Given the description of an element on the screen output the (x, y) to click on. 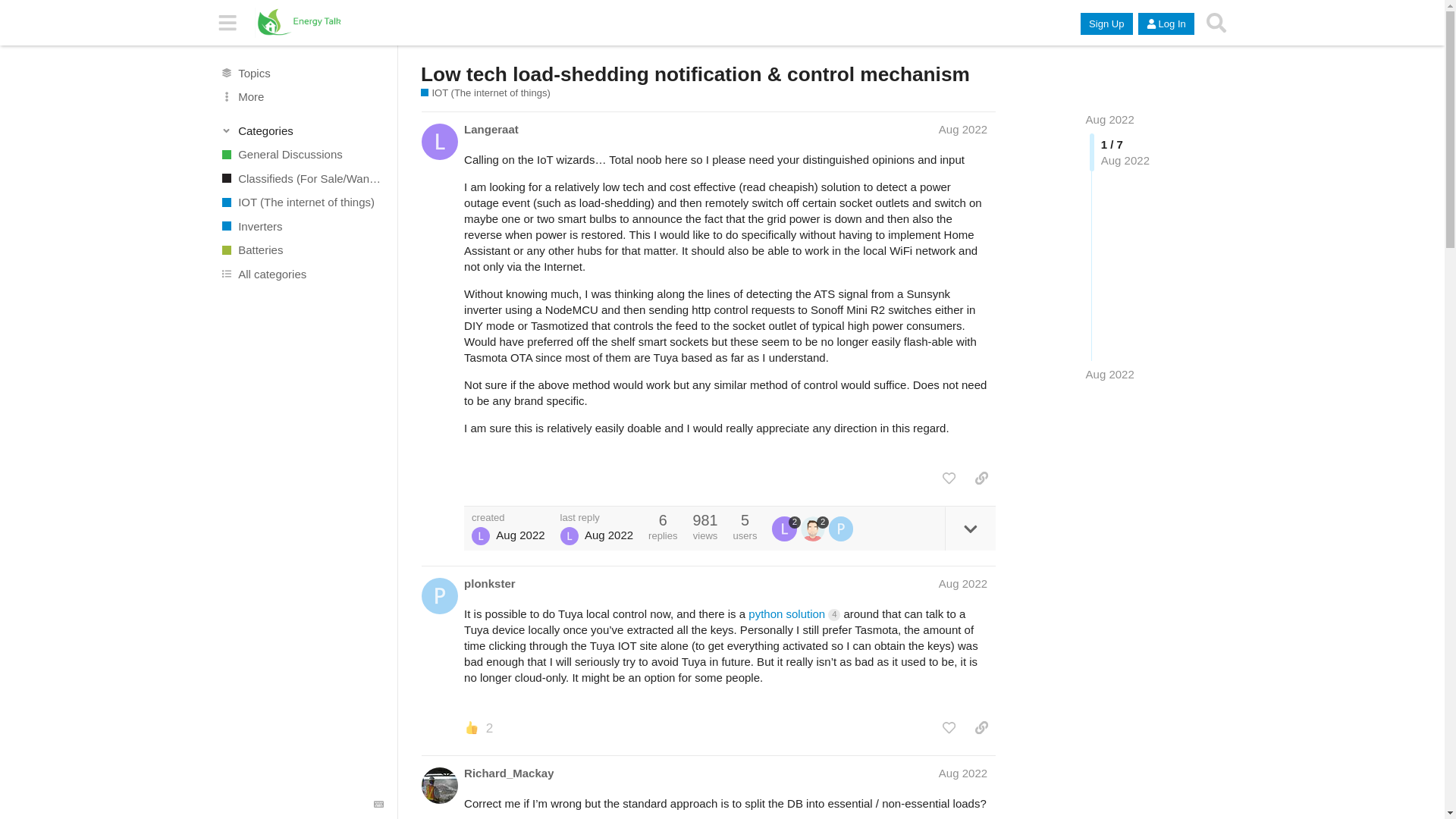
plonkster (489, 583)
General Discussions (301, 154)
For any general and even non solar related discussions. (301, 154)
2 (785, 528)
Categories (301, 130)
Sidebar (227, 22)
Keyboard Shortcuts (378, 805)
Log In (1165, 24)
All categories (301, 274)
last reply (596, 517)
